Given the description of an element on the screen output the (x, y) to click on. 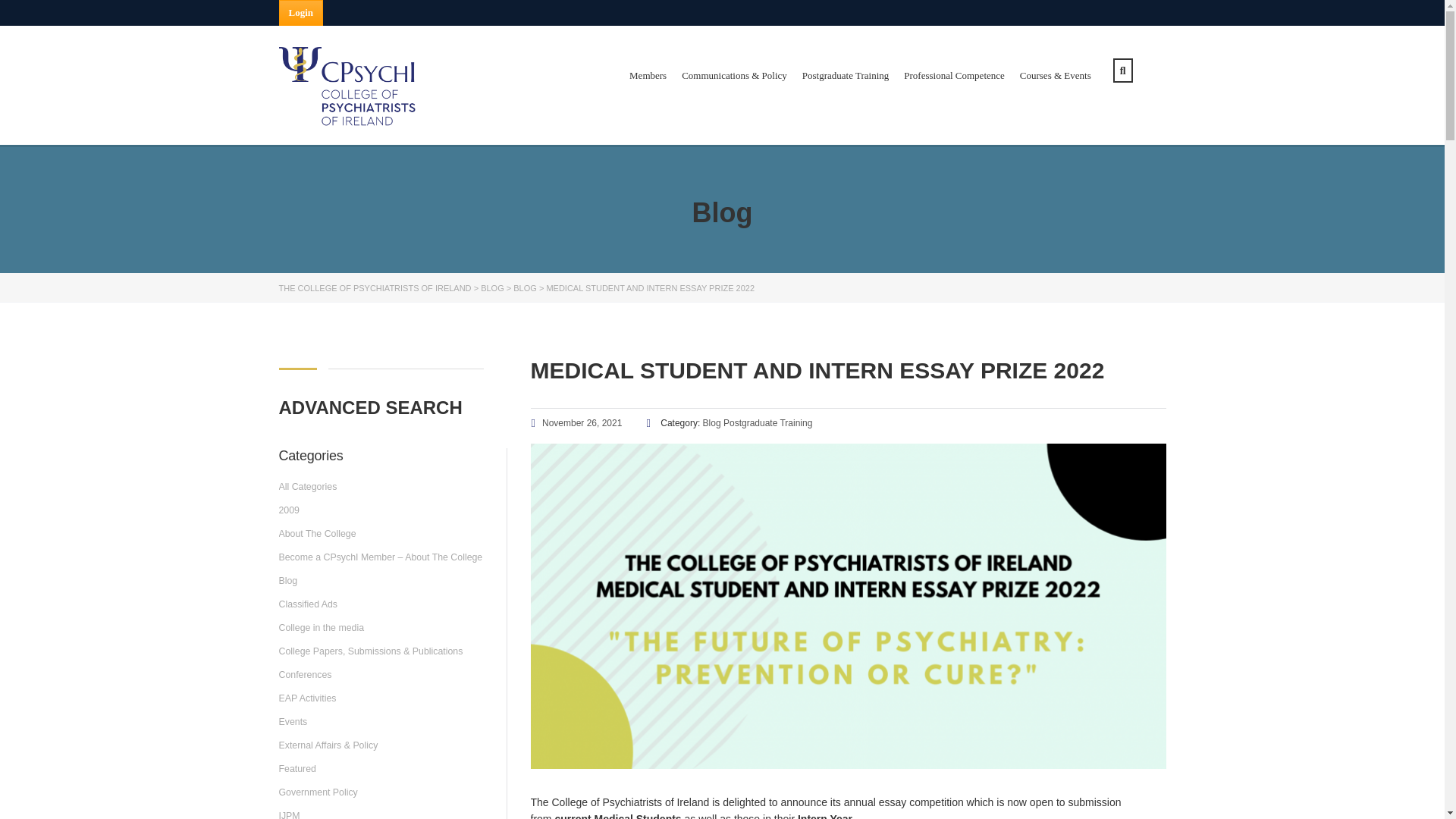
Login (301, 12)
Go to The College of Psychiatrists of Ireland. (375, 287)
Go to the Blog Category archives. (525, 287)
Login (301, 12)
Go to Blog. (491, 287)
